Given the description of an element on the screen output the (x, y) to click on. 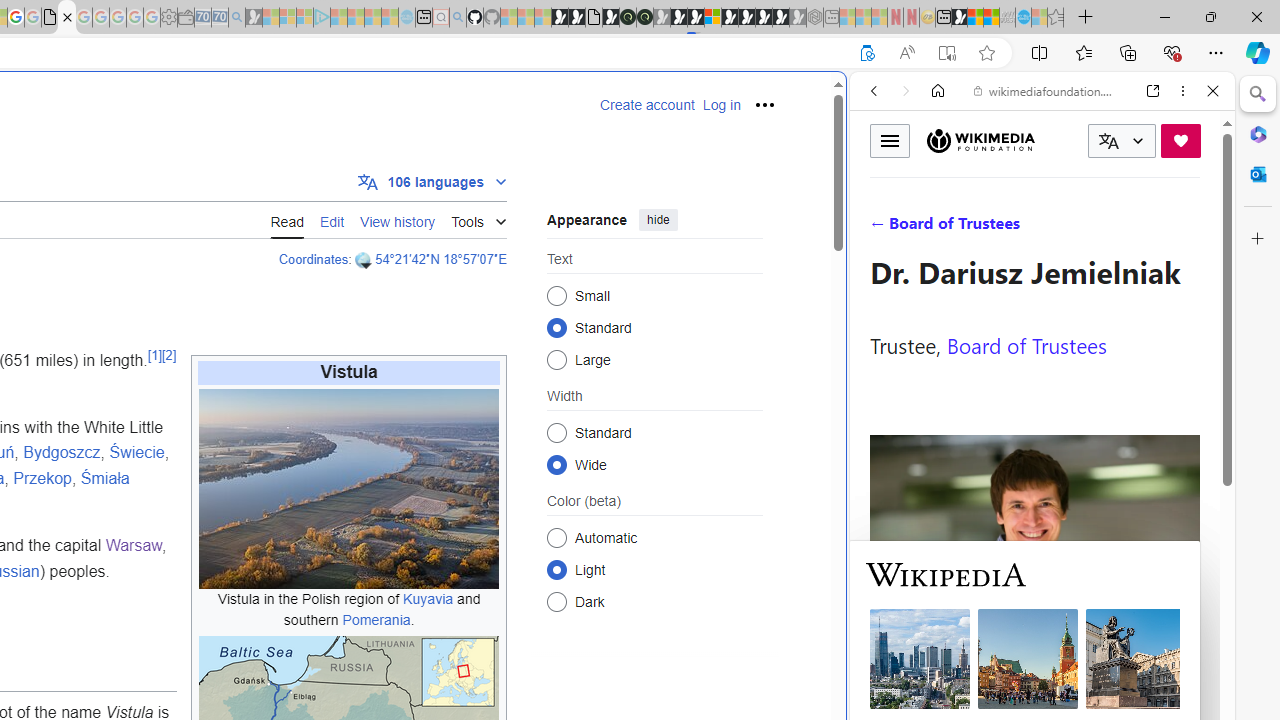
Automatic (556, 537)
Future Focus Report 2024 (644, 17)
Edit (331, 219)
[2] (168, 354)
Edit (331, 219)
Open link in new tab (1153, 91)
VIDEOS (1006, 228)
To get missing image descriptions, open the context menu. (349, 488)
